Given the description of an element on the screen output the (x, y) to click on. 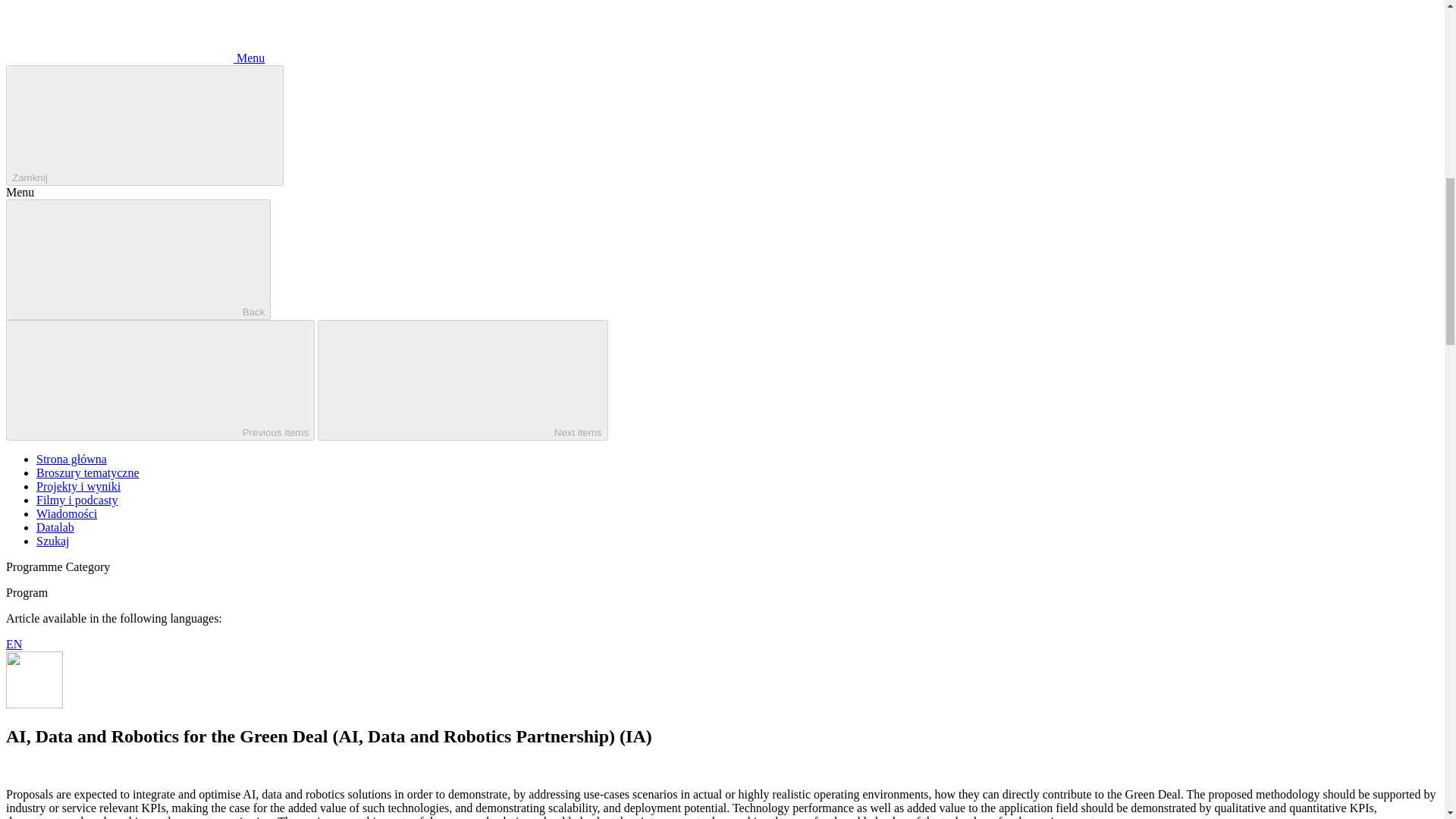
Menu (134, 57)
Datalab (55, 526)
Previous items (159, 380)
Zamknij (144, 125)
Projekty i wyniki (78, 486)
Szukaj (52, 540)
Filmy i podcasty (76, 499)
Broszury tematyczne (87, 472)
Back (137, 259)
Next items (462, 380)
EN (13, 644)
